Given the description of an element on the screen output the (x, y) to click on. 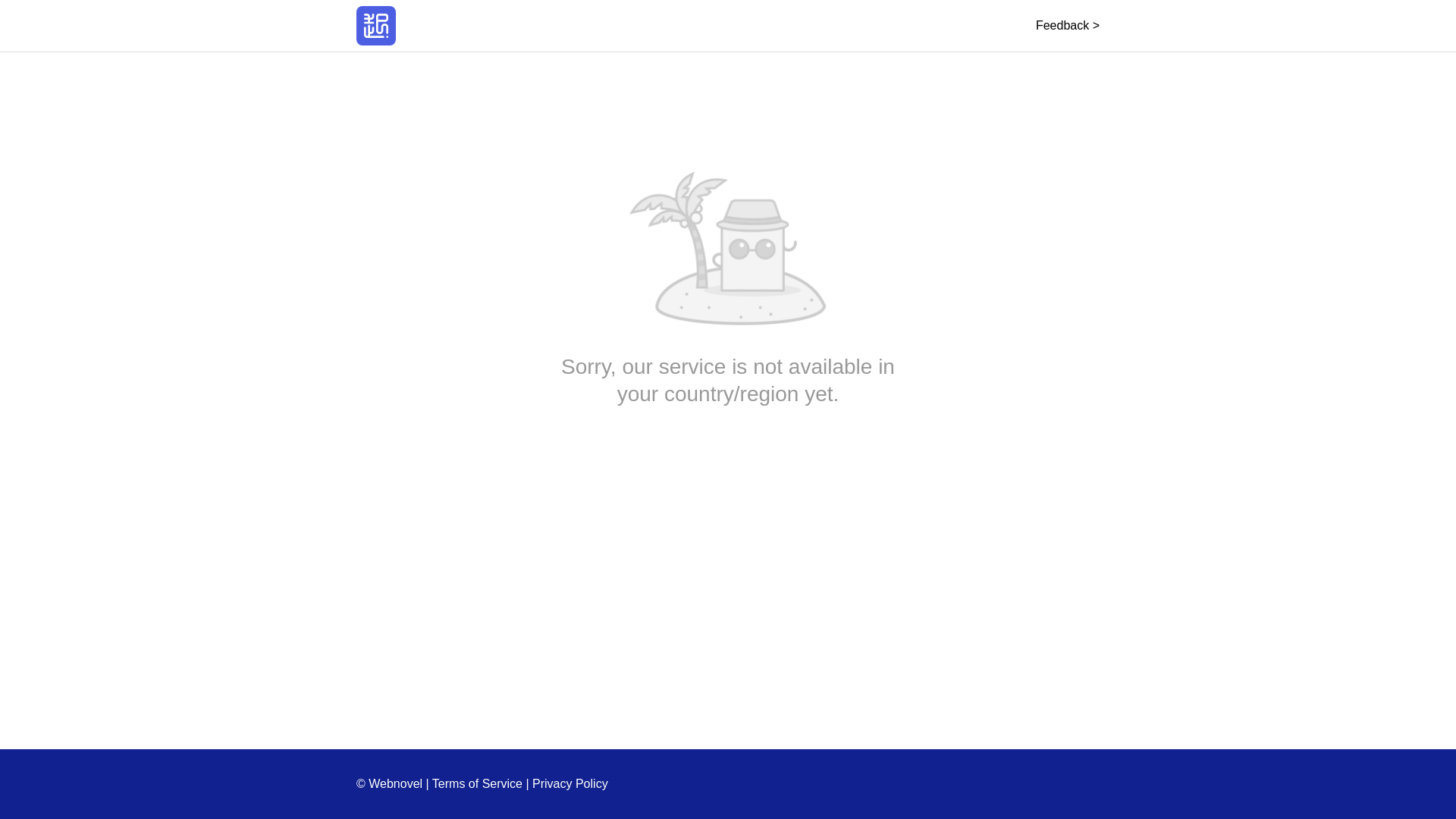
Terms of Service (477, 783)
Privacy Policy (570, 783)
Terms of Service (477, 783)
Feedback (1067, 24)
Webnovel (376, 25)
Privacy Policy (570, 783)
Webnovel (376, 25)
